Given the description of an element on the screen output the (x, y) to click on. 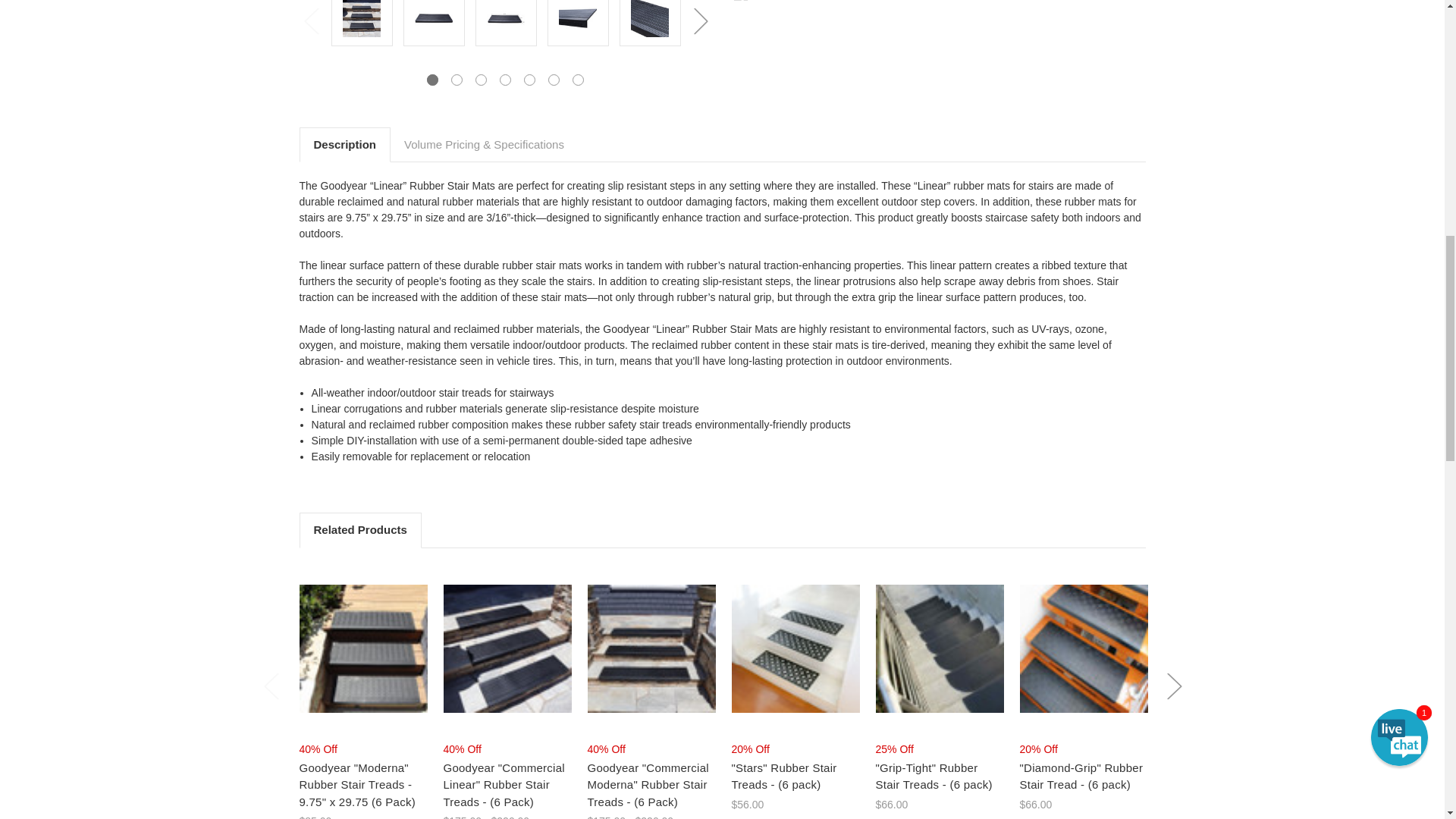
Stars Rubber Stair Treads shown on three white steps (794, 648)
5 (529, 79)
4 (505, 79)
1 (432, 79)
2 (457, 79)
7 (577, 79)
3 (481, 79)
Entry Shot (506, 648)
6 (553, 79)
Entry Shot (650, 648)
Entry Shot (362, 648)
Descending steps featuring Grip-Tight Rubber Stair Treads (939, 648)
